Given the description of an element on the screen output the (x, y) to click on. 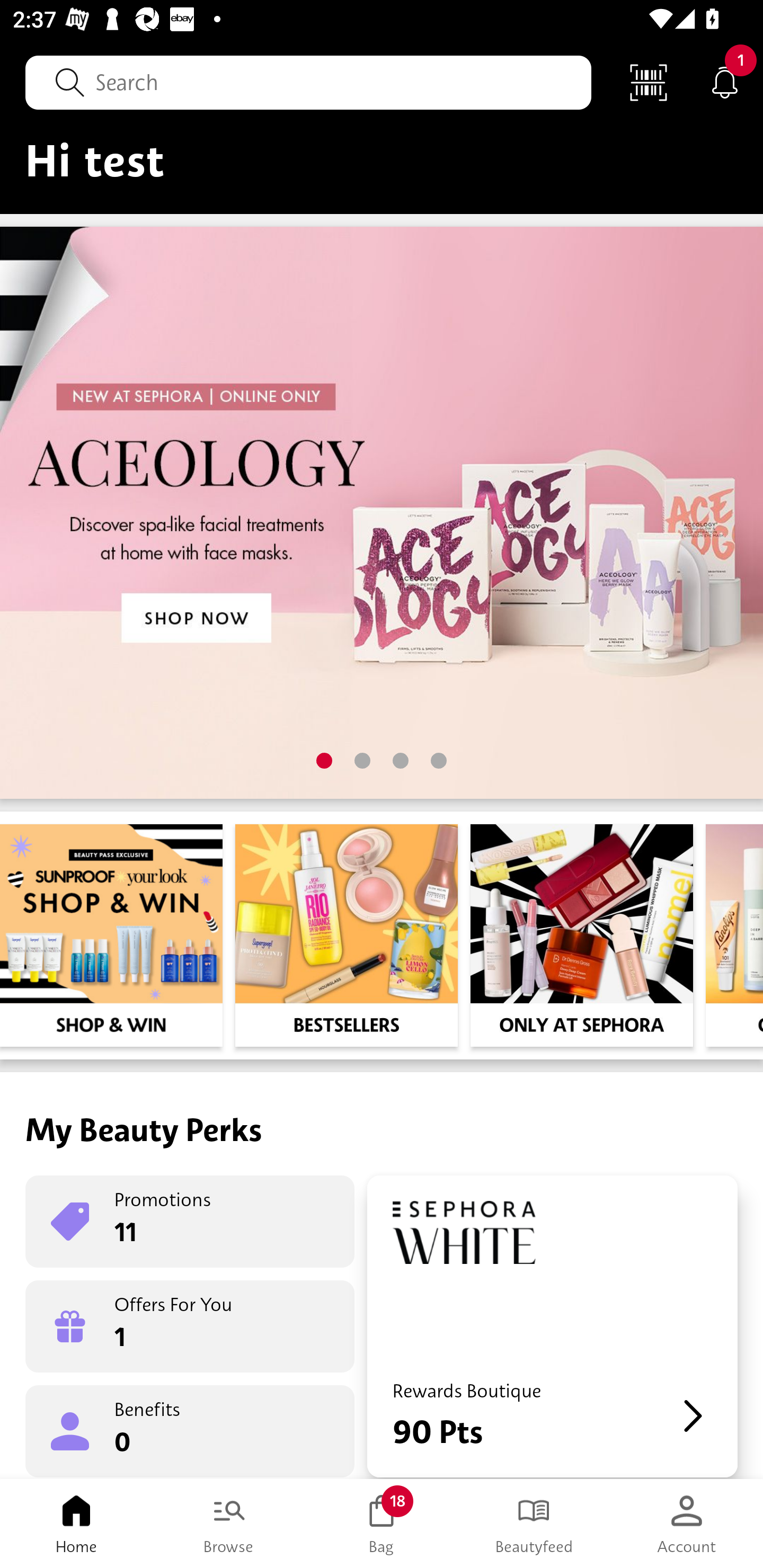
Scan Code (648, 81)
Notifications (724, 81)
Search (308, 81)
Promotions 11 (189, 1221)
Rewards Boutique 90 Pts (552, 1326)
Offers For You 1 (189, 1326)
Benefits 0 (189, 1430)
Browse (228, 1523)
Bag 18 Bag (381, 1523)
Beautyfeed (533, 1523)
Account (686, 1523)
